Given the description of an element on the screen output the (x, y) to click on. 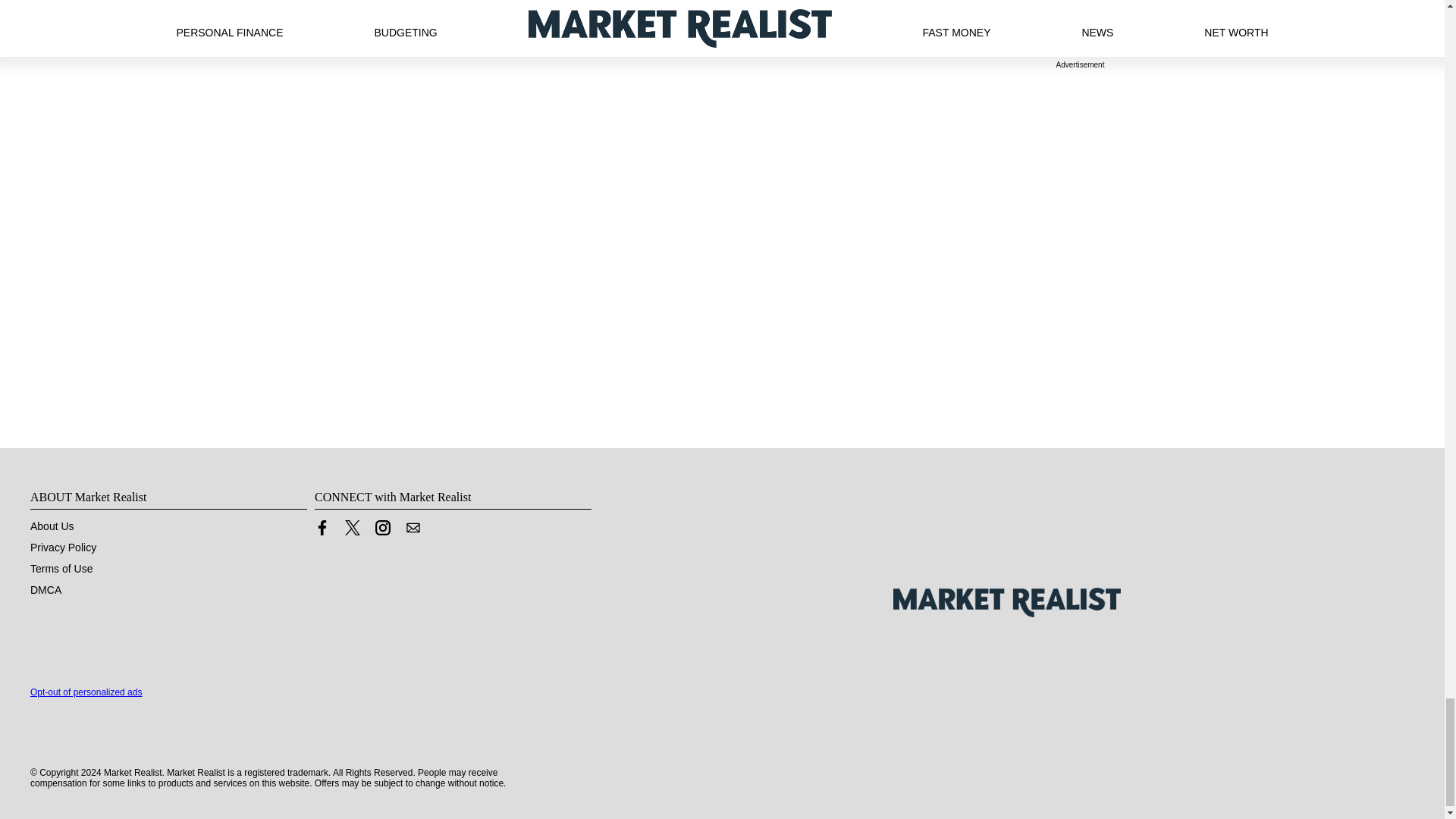
About Us (52, 526)
Privacy Policy (63, 547)
Link to X (352, 527)
Link to Instagram (382, 527)
Contact us by Email (413, 527)
Link to Instagram (382, 531)
About Us (52, 526)
Link to Facebook (322, 527)
Privacy Policy (63, 547)
Contact us by Email (413, 531)
